Given the description of an element on the screen output the (x, y) to click on. 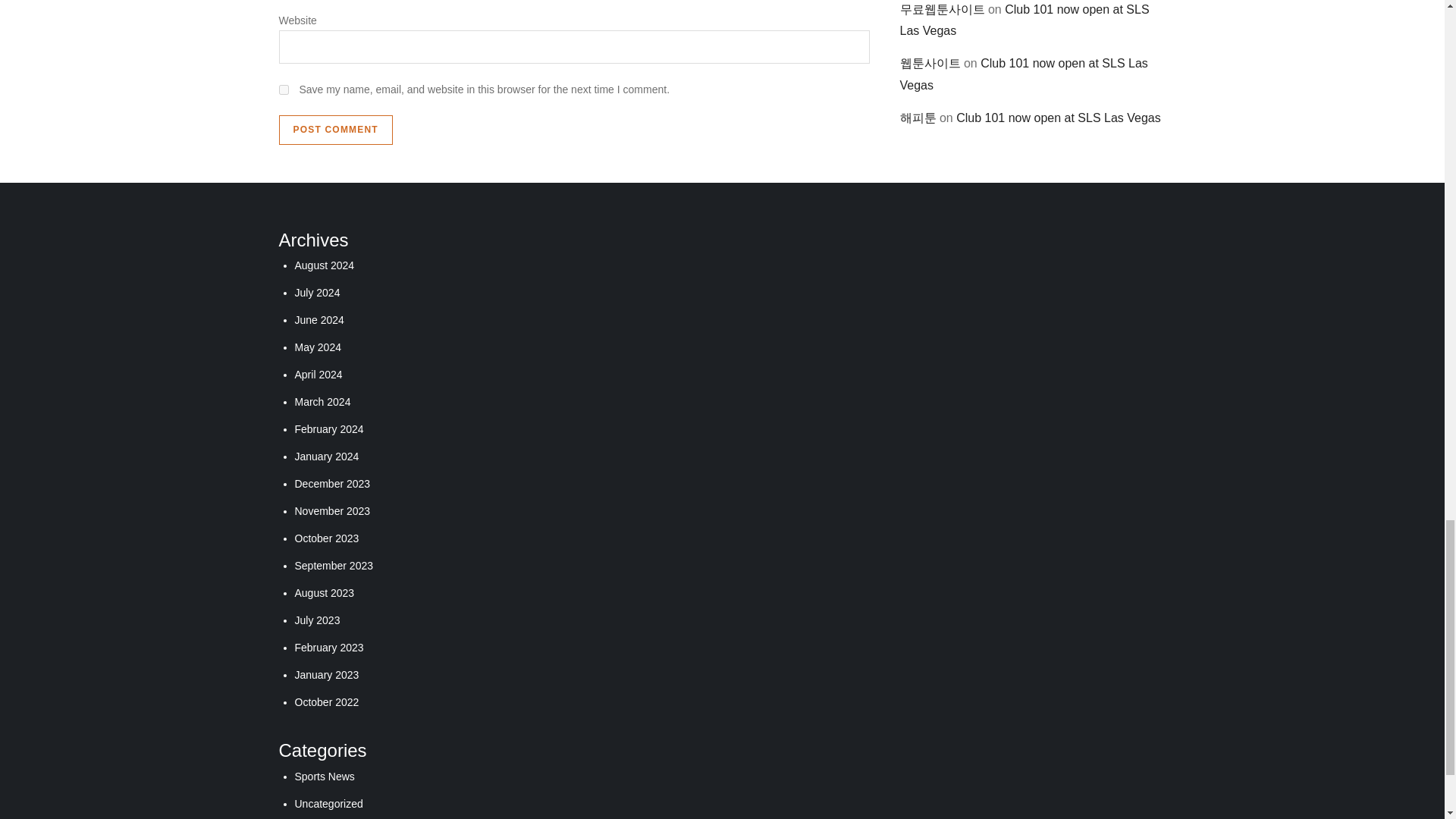
August 2024 (323, 265)
July 2024 (316, 292)
yes (283, 90)
Post Comment (336, 130)
April 2024 (318, 374)
May 2024 (317, 346)
Post Comment (336, 130)
June 2024 (318, 319)
